Given the description of an element on the screen output the (x, y) to click on. 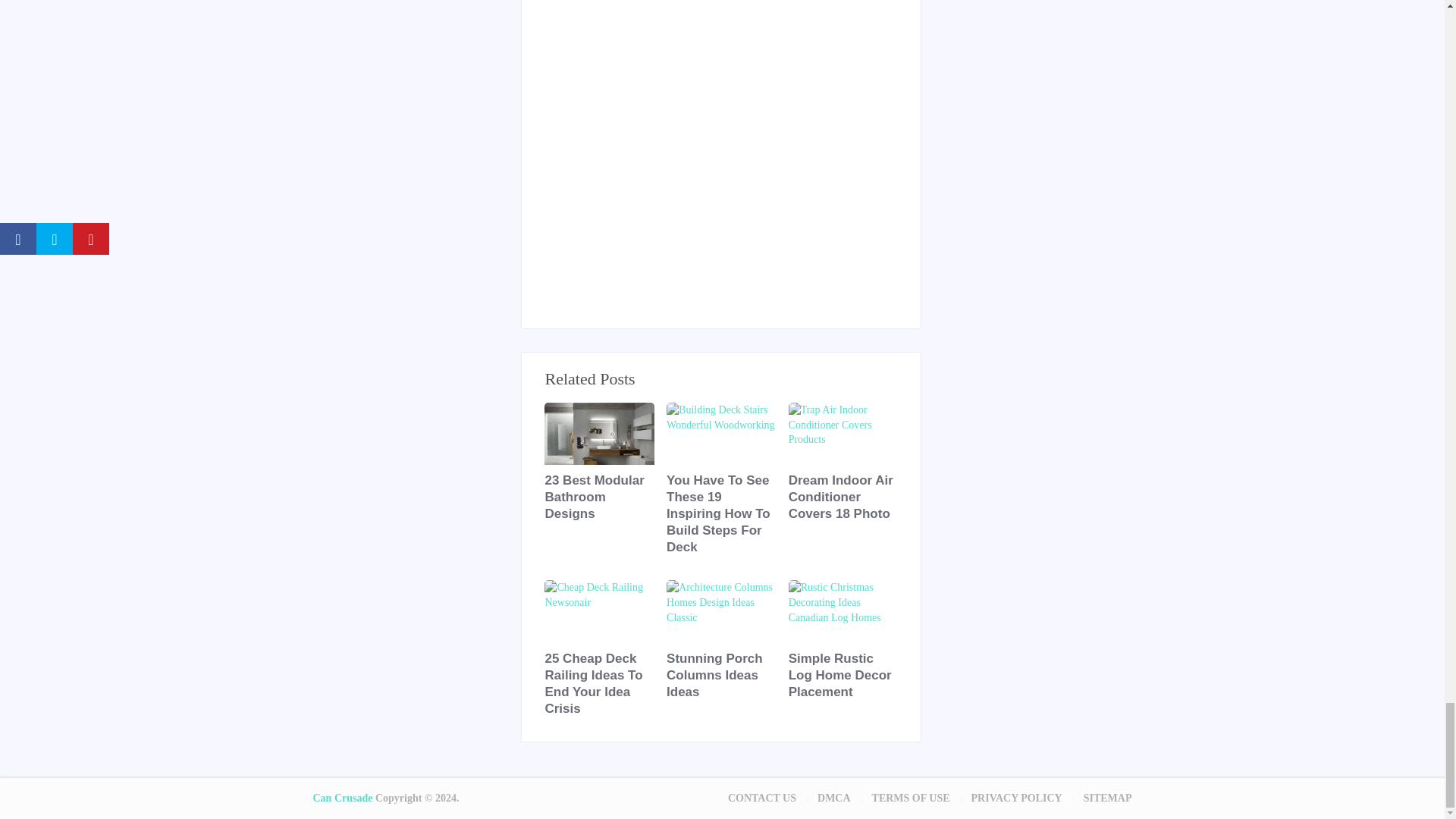
23 Best Modular Bathroom Designs (598, 497)
Dream Indoor Air Conditioner Covers 18 Photo (843, 497)
